Given the description of an element on the screen output the (x, y) to click on. 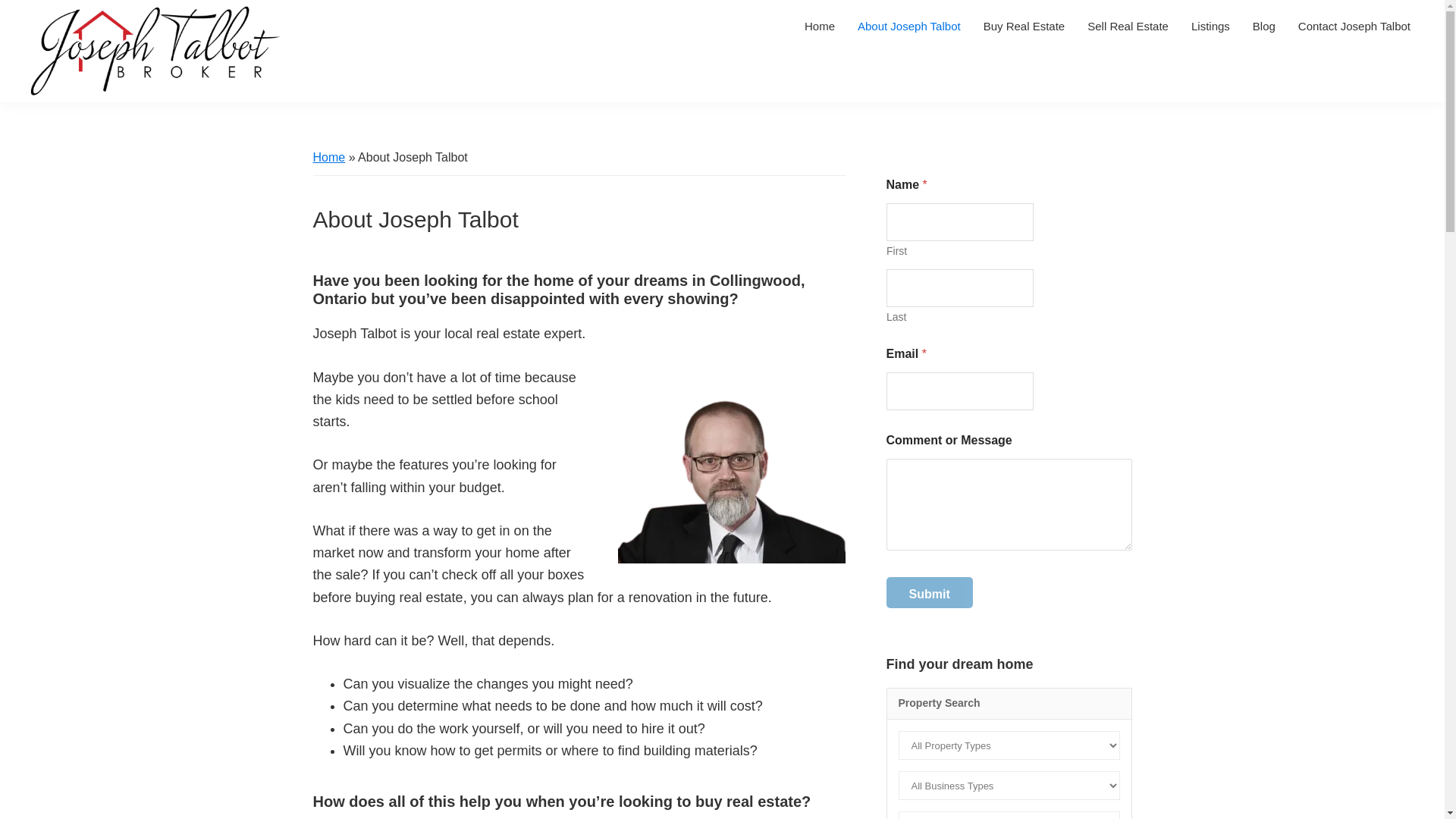
Listings (1210, 25)
Buy Real Estate (1024, 25)
Home (329, 156)
Submit (928, 592)
Sell Real Estate (1127, 25)
About Joseph Talbot (908, 25)
Contact Joseph Talbot (1354, 25)
Home (819, 25)
Blog (1264, 25)
